Given the description of an element on the screen output the (x, y) to click on. 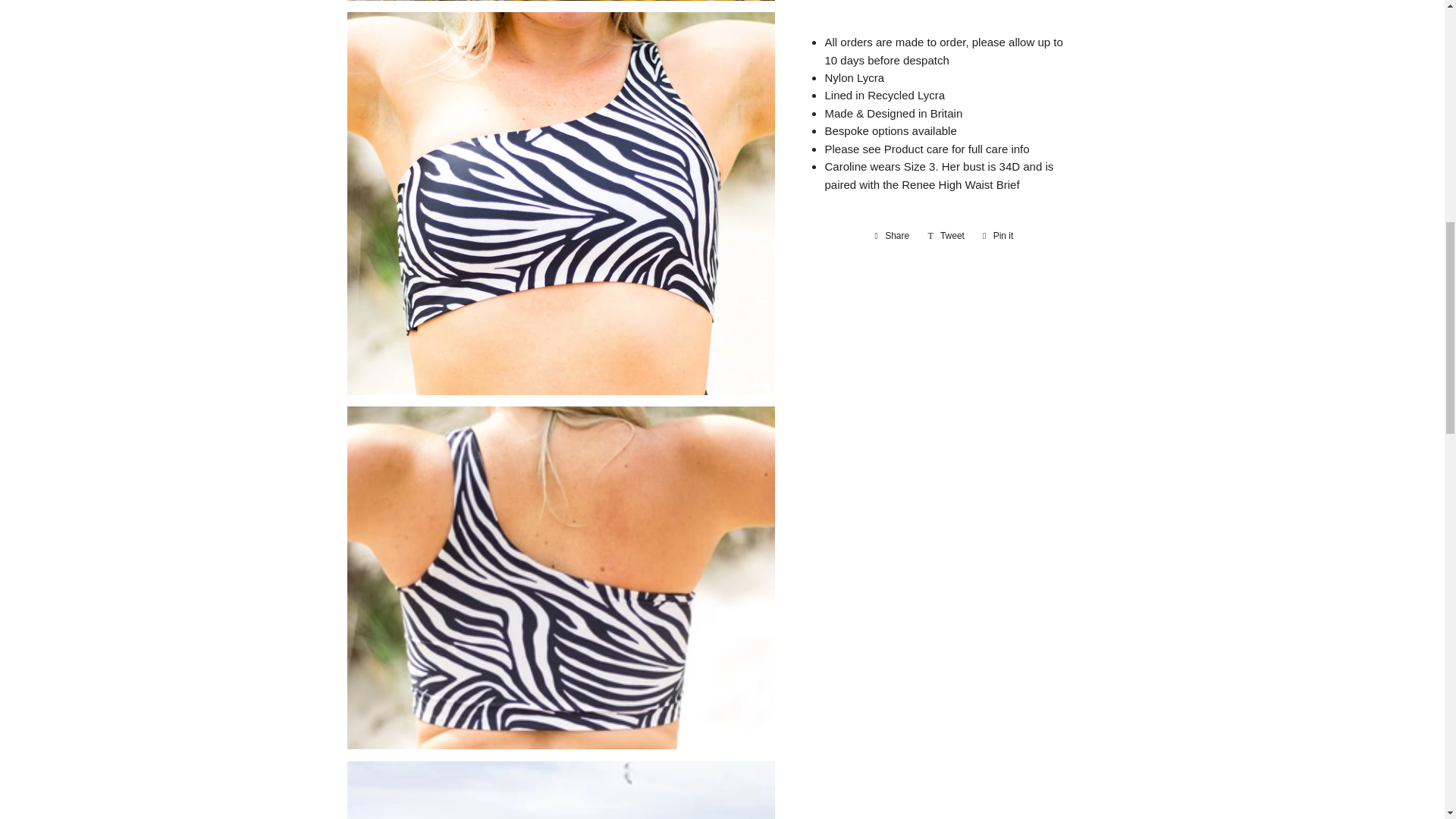
Share on Facebook (892, 235)
Tweet on Twitter (946, 235)
Pin on Pinterest (997, 235)
